Given the description of an element on the screen output the (x, y) to click on. 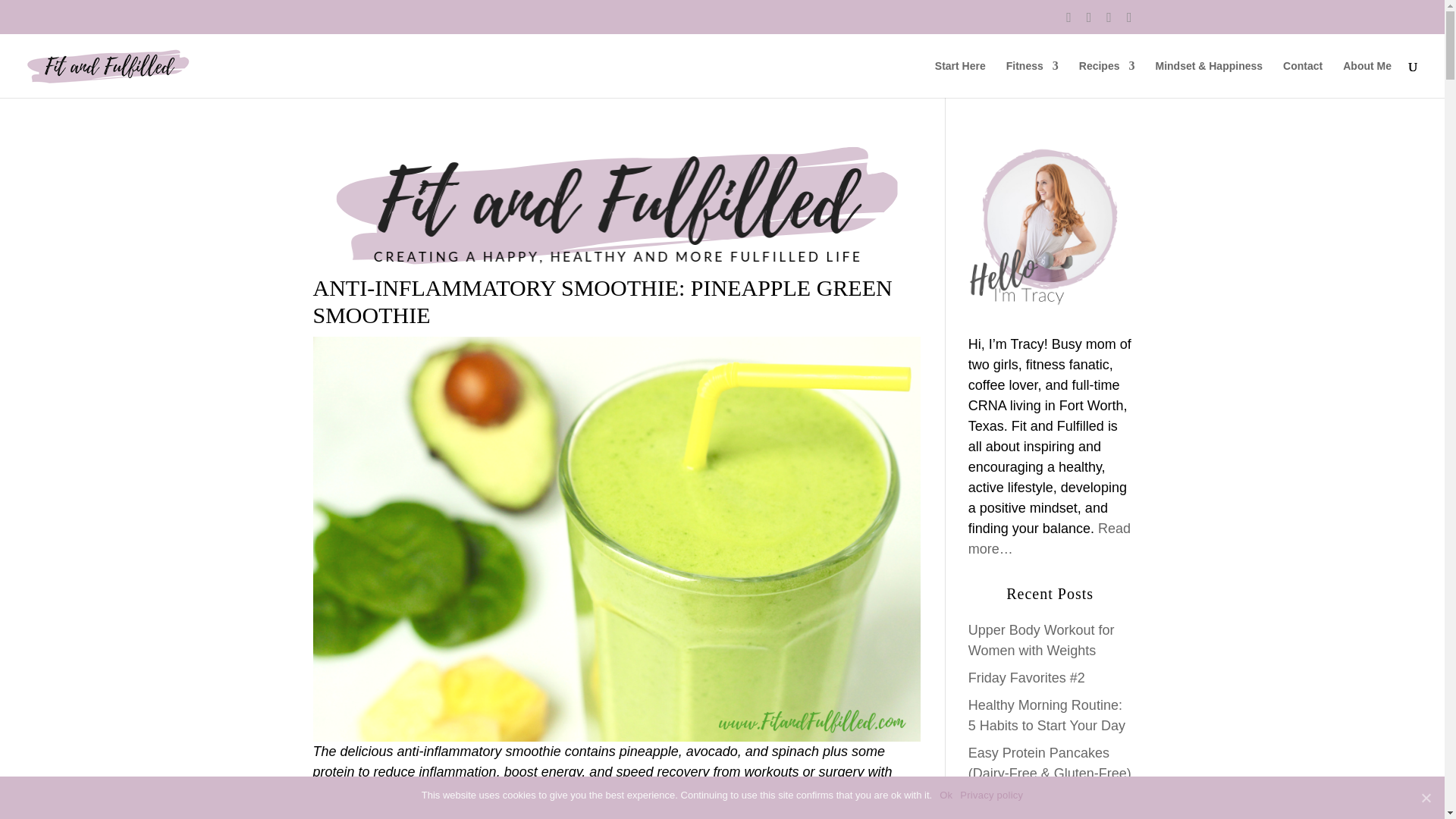
Recipes (1106, 78)
Fitness (1032, 78)
About Me (1366, 78)
Contact (1302, 78)
Start Here (959, 78)
